Given the description of an element on the screen output the (x, y) to click on. 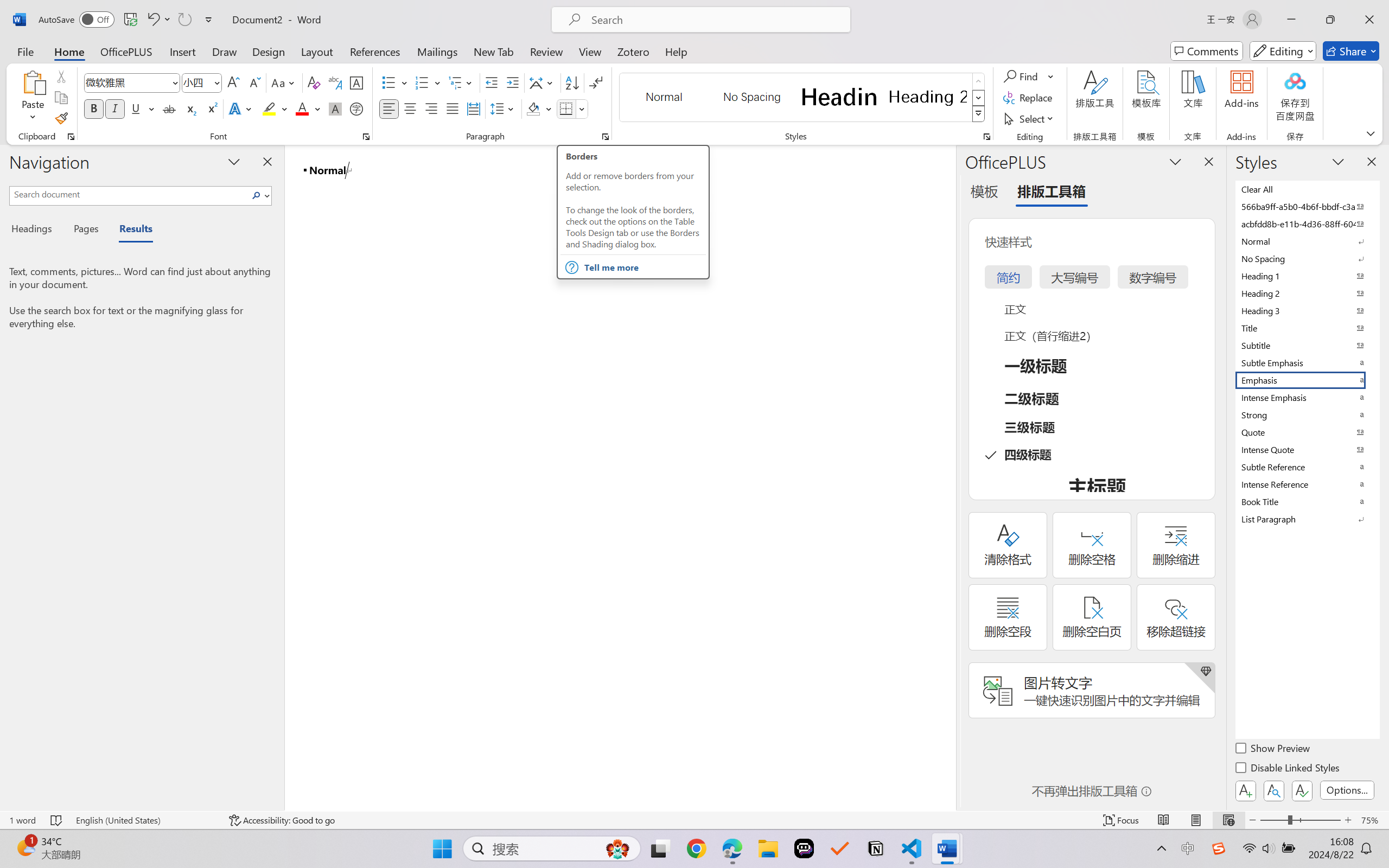
Intense Quote (1306, 449)
Web Layout (1228, 819)
Undo Style (152, 19)
OfficePLUS (126, 51)
Class: MsoCommandBar (694, 819)
Row Down (978, 97)
Paste (33, 97)
Borders (566, 108)
Class: NetUIScrollBar (948, 477)
Font (126, 82)
Replace... (1029, 97)
